Given the description of an element on the screen output the (x, y) to click on. 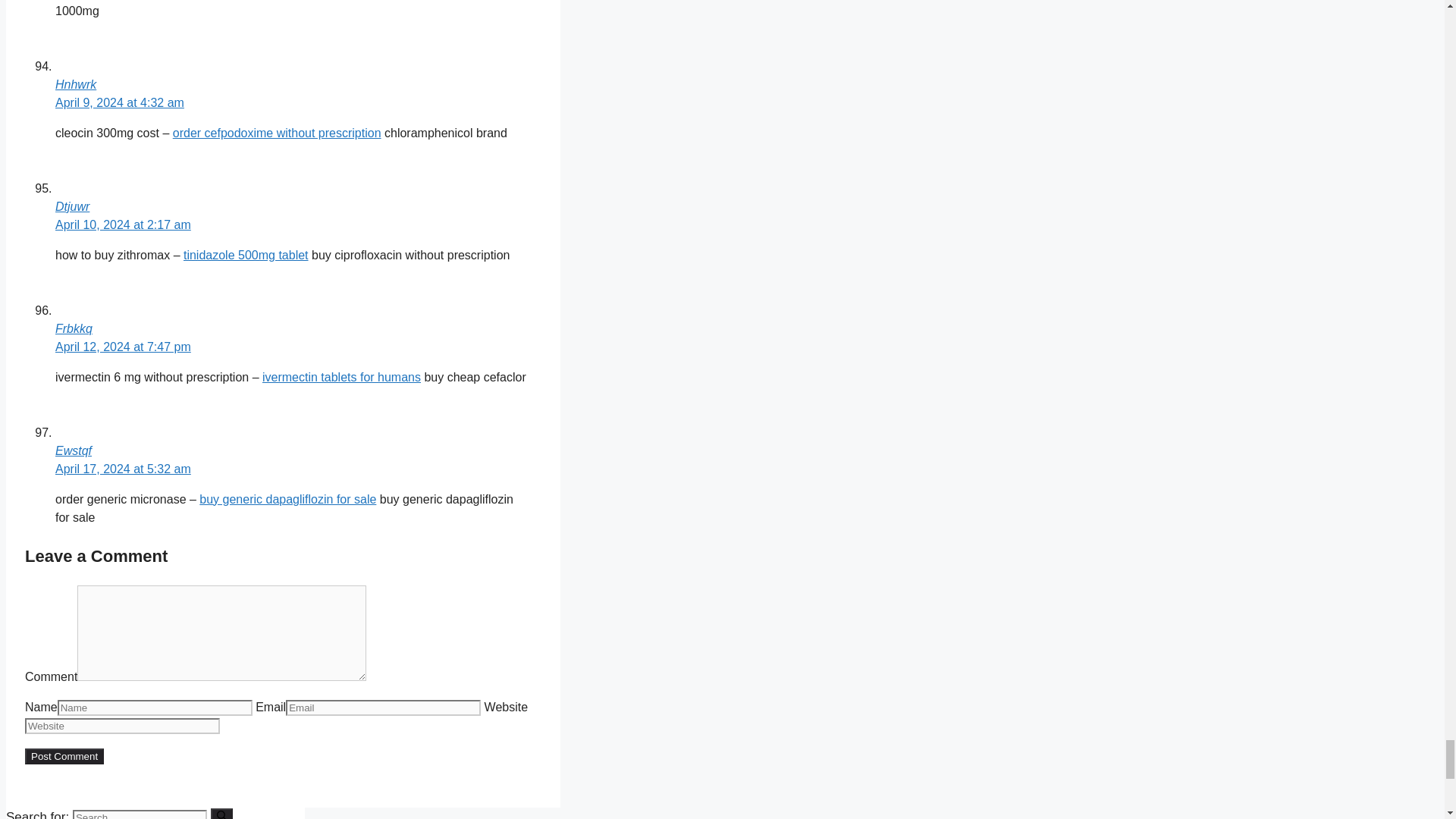
Post Comment (63, 756)
Search for: (139, 814)
